Given the description of an element on the screen output the (x, y) to click on. 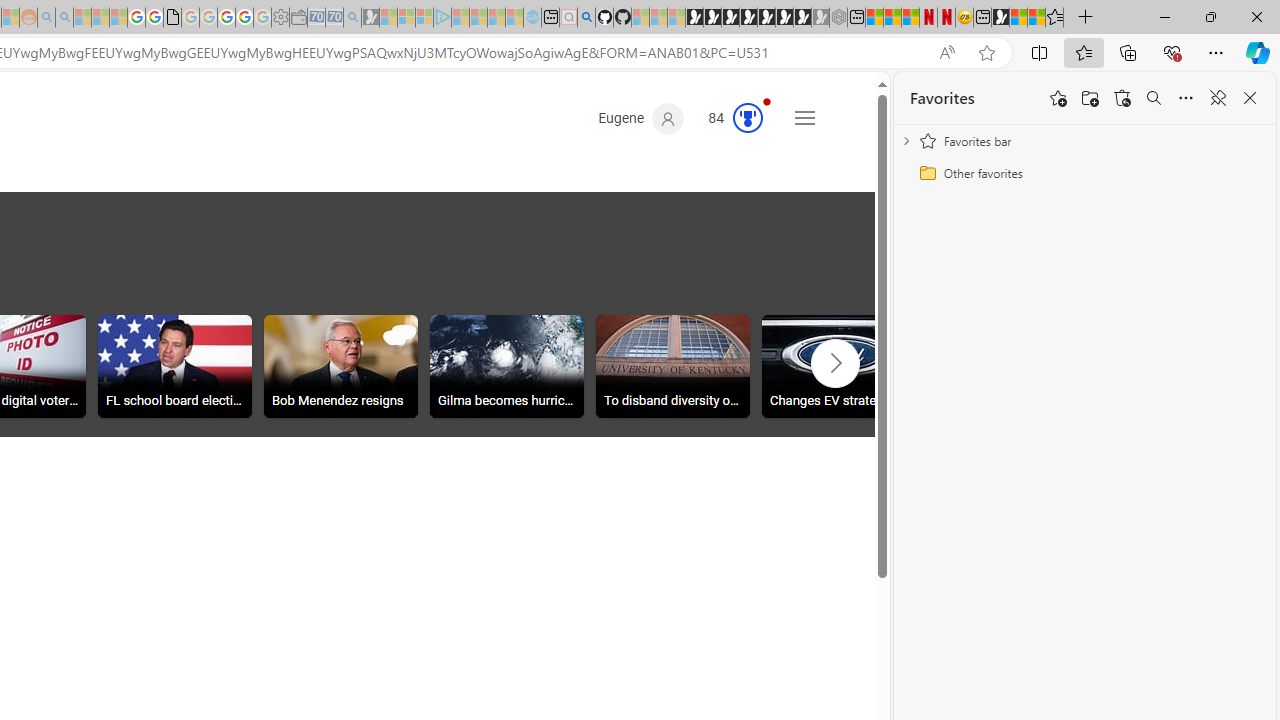
Wildlife - MSN (1017, 17)
Gilma becomes hurricane (506, 369)
Eugene (640, 119)
